Given the description of an element on the screen output the (x, y) to click on. 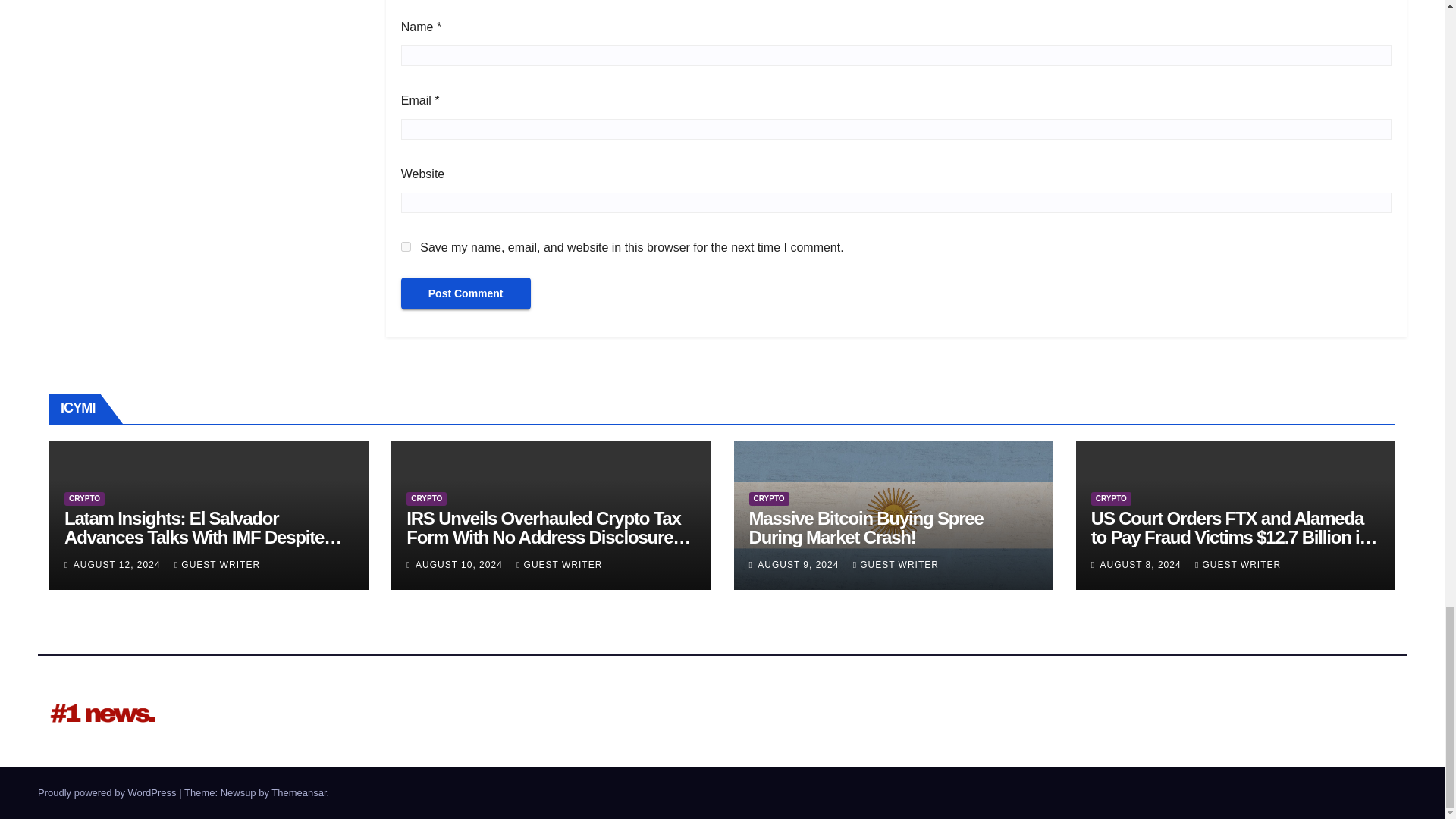
yes (405, 246)
Post Comment (466, 293)
